Given the description of an element on the screen output the (x, y) to click on. 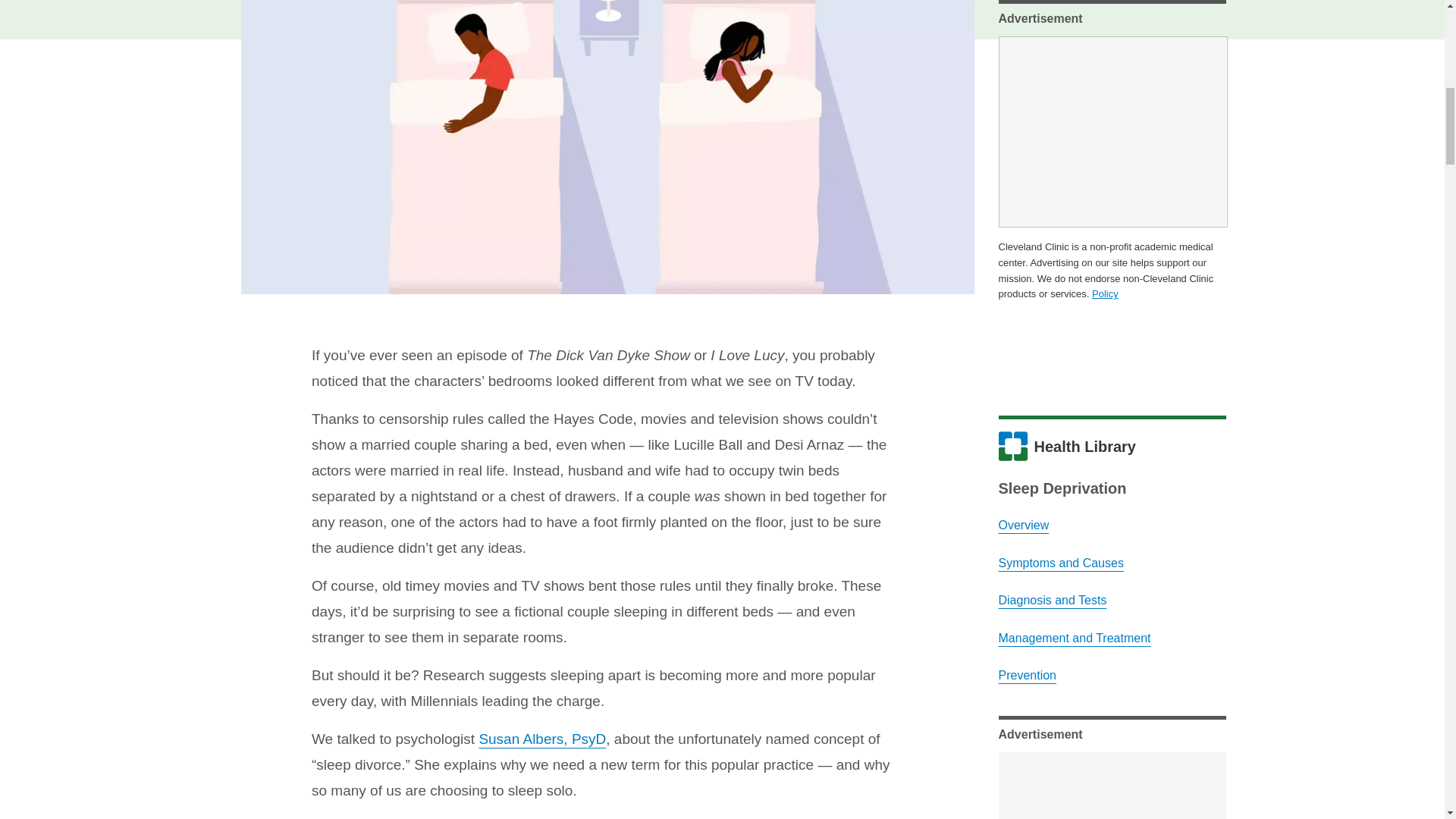
Susan Albers, PsyD (542, 738)
